Given the description of an element on the screen output the (x, y) to click on. 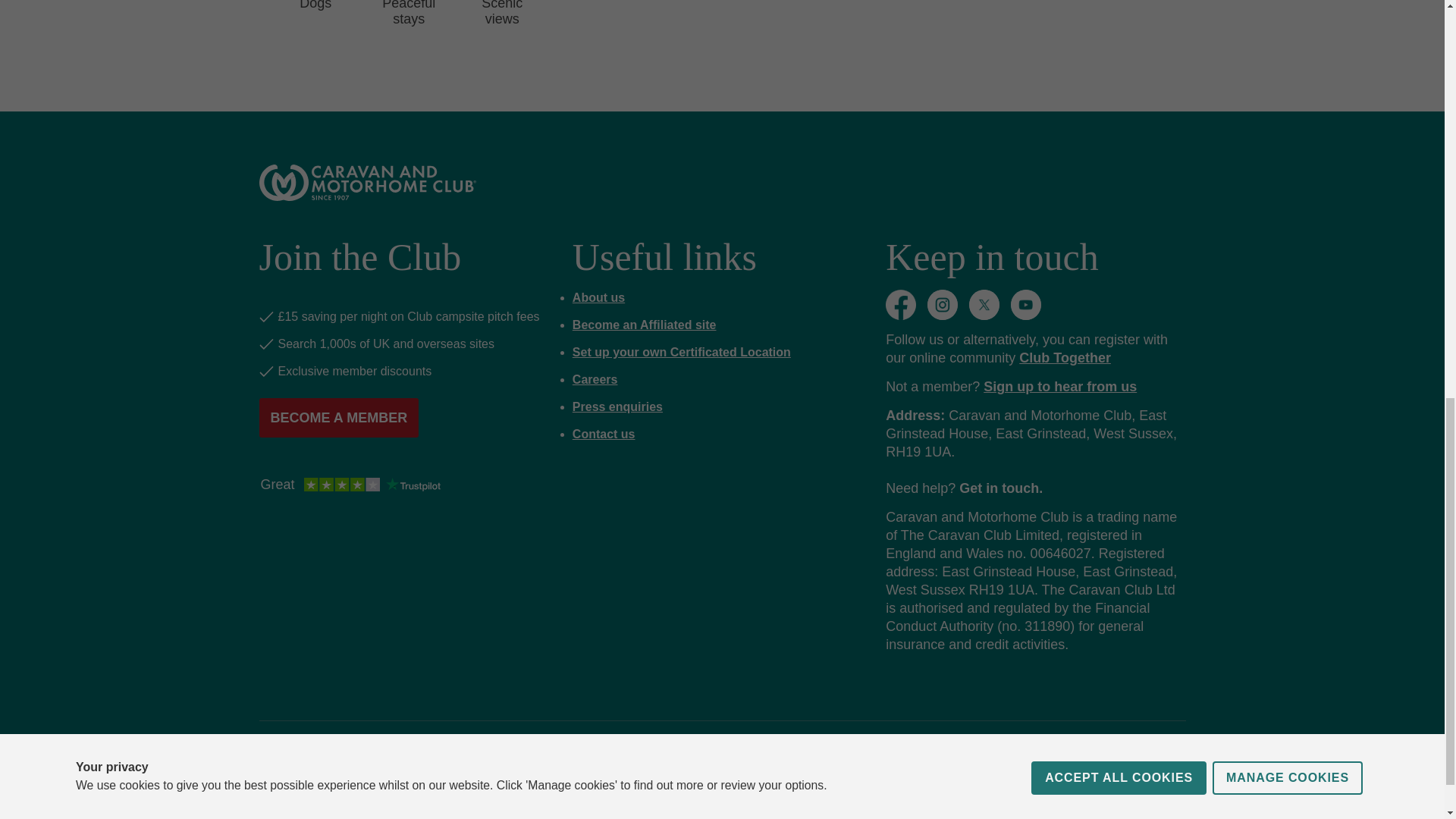
ACCEPT ALL COOKIES (1118, 32)
Instagram (942, 304)
YouTube (1025, 304)
Club Together (1064, 357)
Customer reviews powered by Trustpilot (349, 485)
MANAGE COOKIES (1287, 17)
Facebook (900, 304)
Twitter (983, 304)
